Given the description of an element on the screen output the (x, y) to click on. 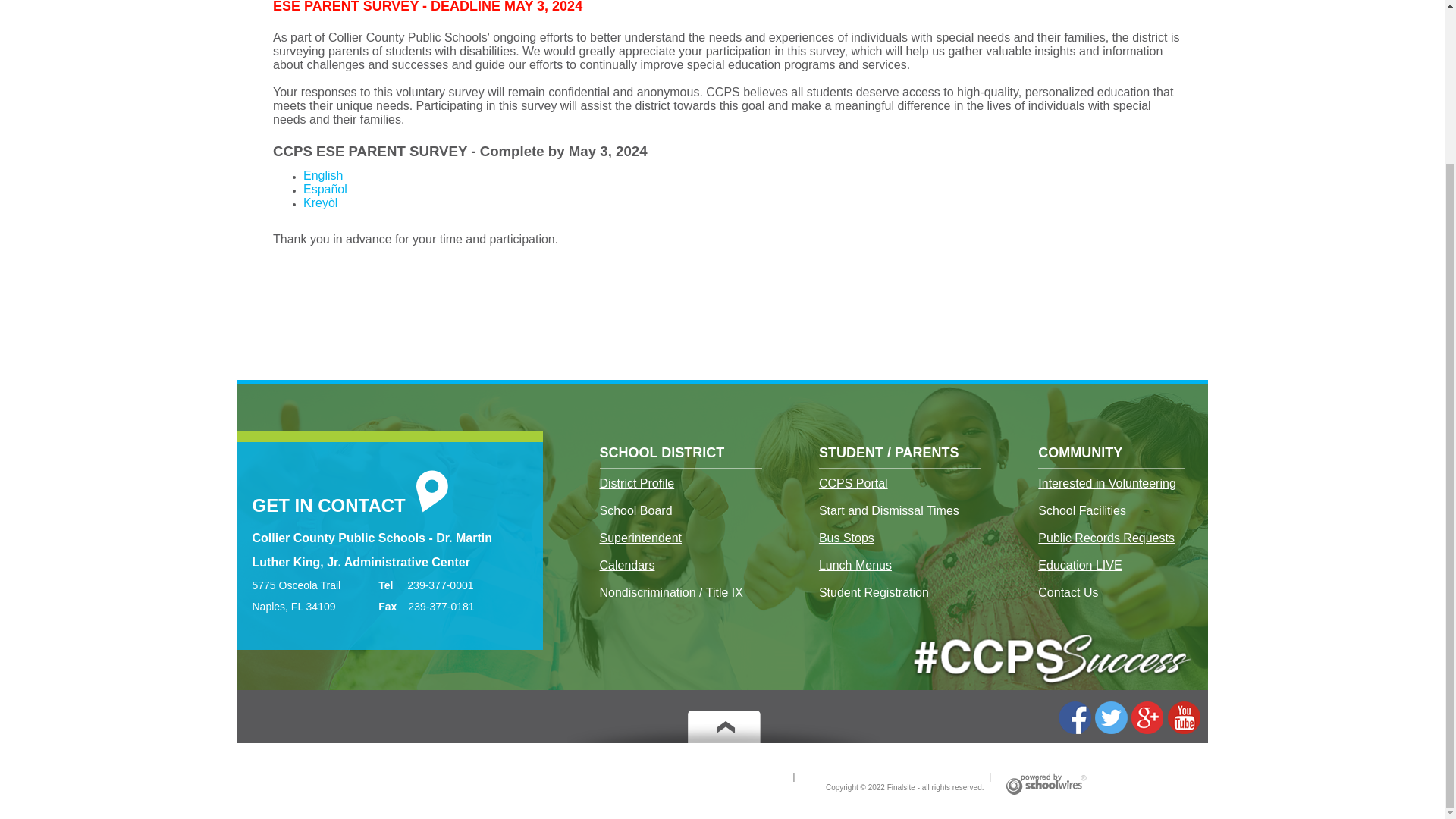
CCPS Portal (853, 483)
Calendars (625, 565)
Interested in Volunteering (1106, 483)
Student Registration (873, 592)
Start and Dismissal Times (888, 510)
Superintendent (639, 538)
Lunch Menus (854, 565)
District Profile (636, 483)
Bus Stops (846, 538)
School Board (634, 510)
